Given the description of an element on the screen output the (x, y) to click on. 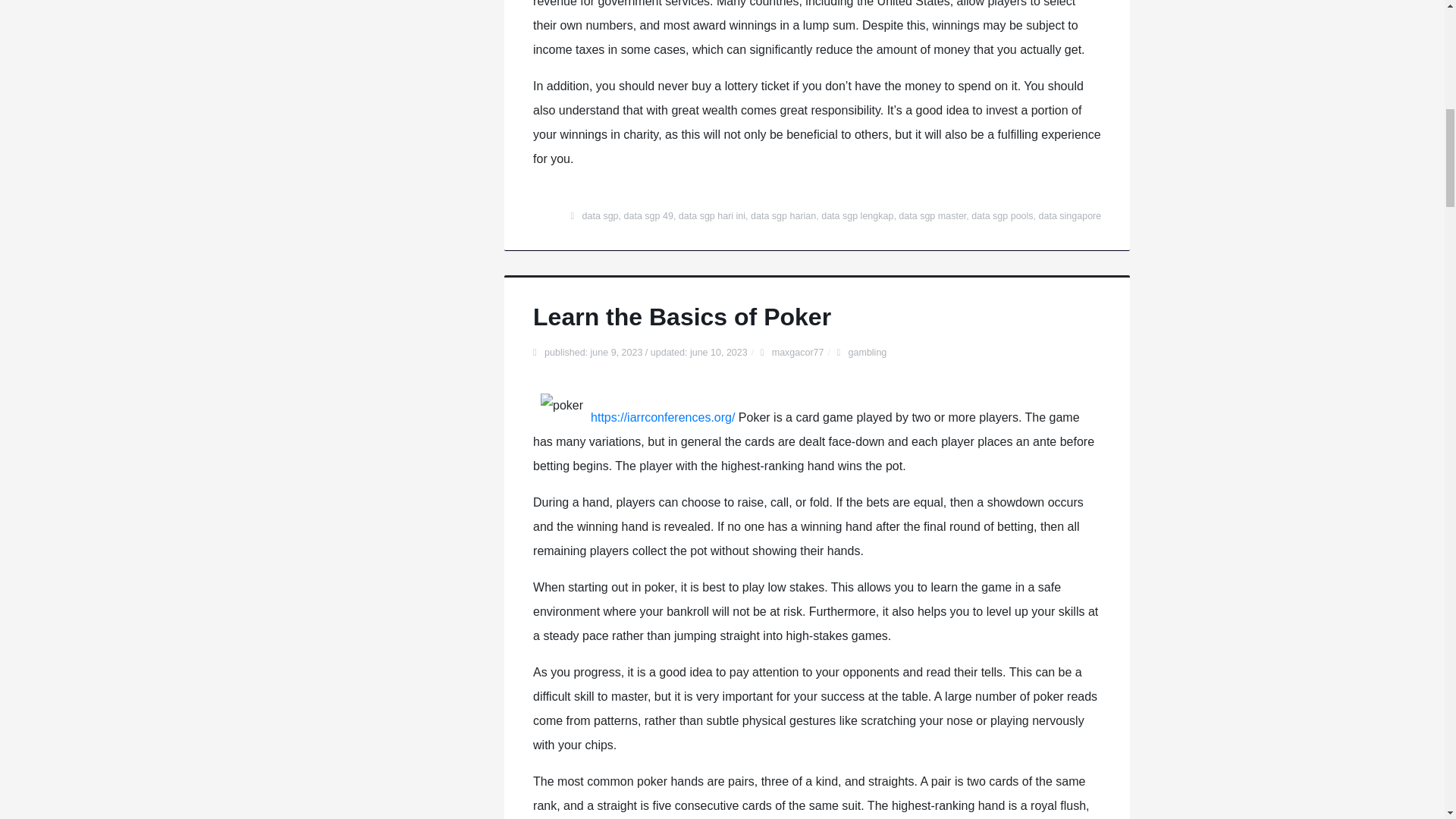
data sgp pools (1001, 215)
Learn the Basics of Poker (681, 316)
gambling (867, 352)
maxgacor77 (797, 352)
data sgp 49 (648, 215)
data singapore (1070, 215)
data sgp hari ini (711, 215)
data sgp (600, 215)
data sgp lengkap (857, 215)
data sgp harian (783, 215)
